Given the description of an element on the screen output the (x, y) to click on. 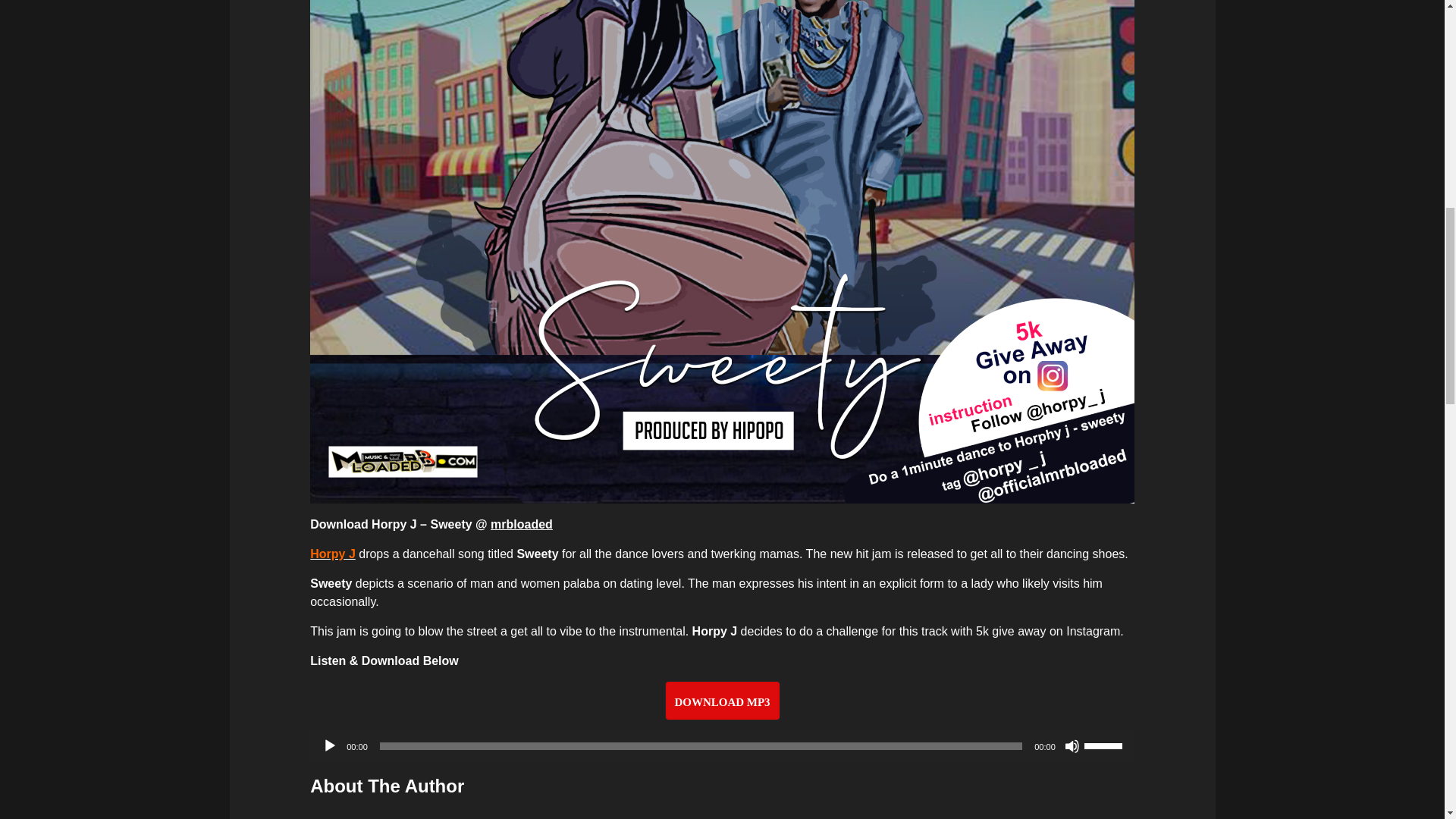
mrbloaded (521, 523)
DOWNLOAD MP3 (721, 700)
Play (329, 745)
Mute (1072, 745)
Horpy J (332, 553)
